Given the description of an element on the screen output the (x, y) to click on. 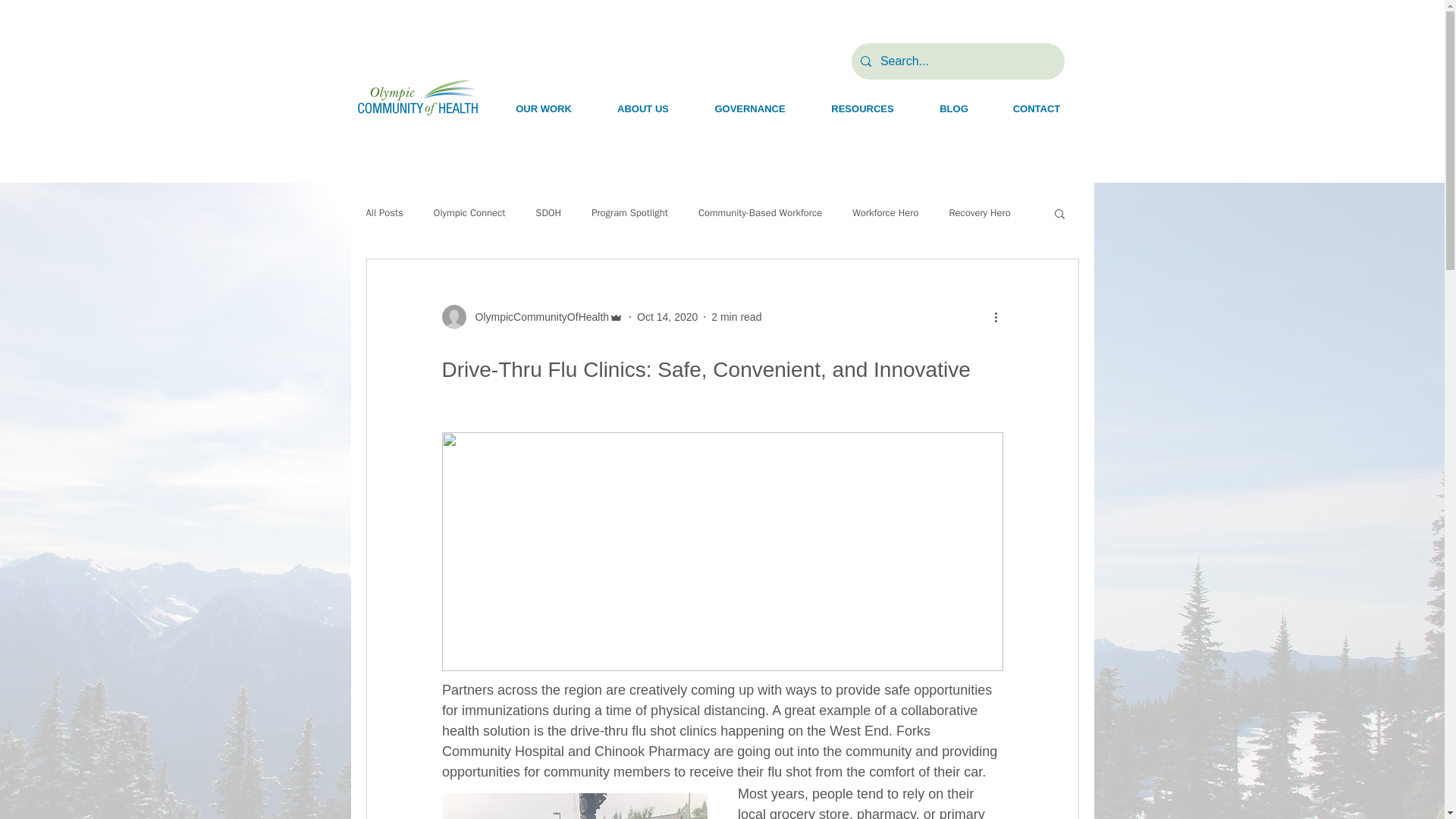
RESOURCES (862, 108)
Workforce Hero (884, 213)
BLOG (954, 108)
2 min read (736, 316)
SDOH (547, 213)
OlympicCommunityOfHealth (532, 316)
GOVERNANCE (749, 108)
ABOUT US (643, 108)
Program Spotlight (629, 213)
CONTACT (1035, 108)
